Given the description of an element on the screen output the (x, y) to click on. 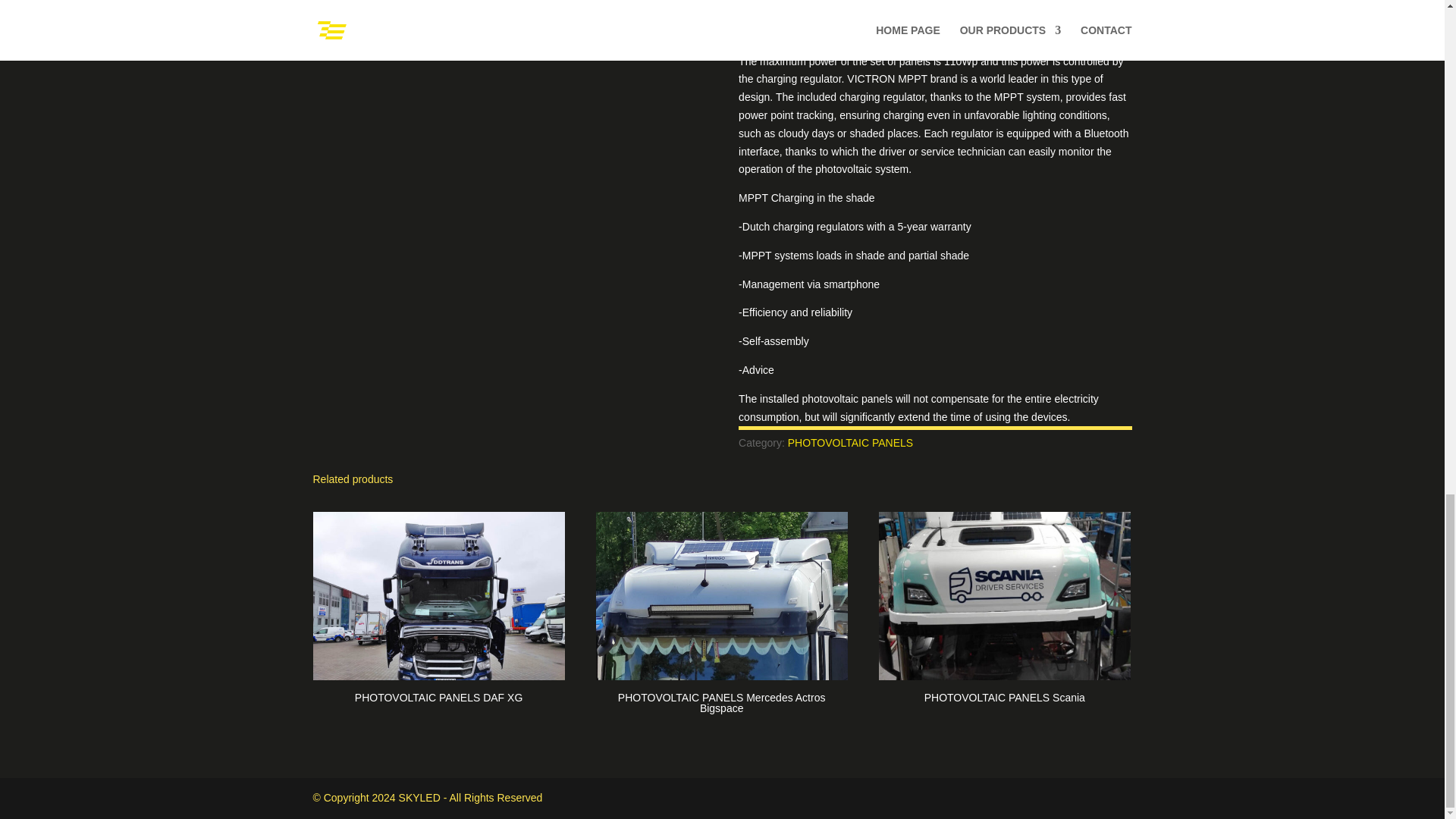
PHOTOVOLTAIC PANELS DAF XG (438, 609)
PHOTOVOLTAIC PANELS Scania (1005, 609)
PHOTOVOLTAIC PANELS (849, 442)
PHOTOVOLTAIC PANELS Mercedes Actros Bigspace (721, 614)
